Given the description of an element on the screen output the (x, y) to click on. 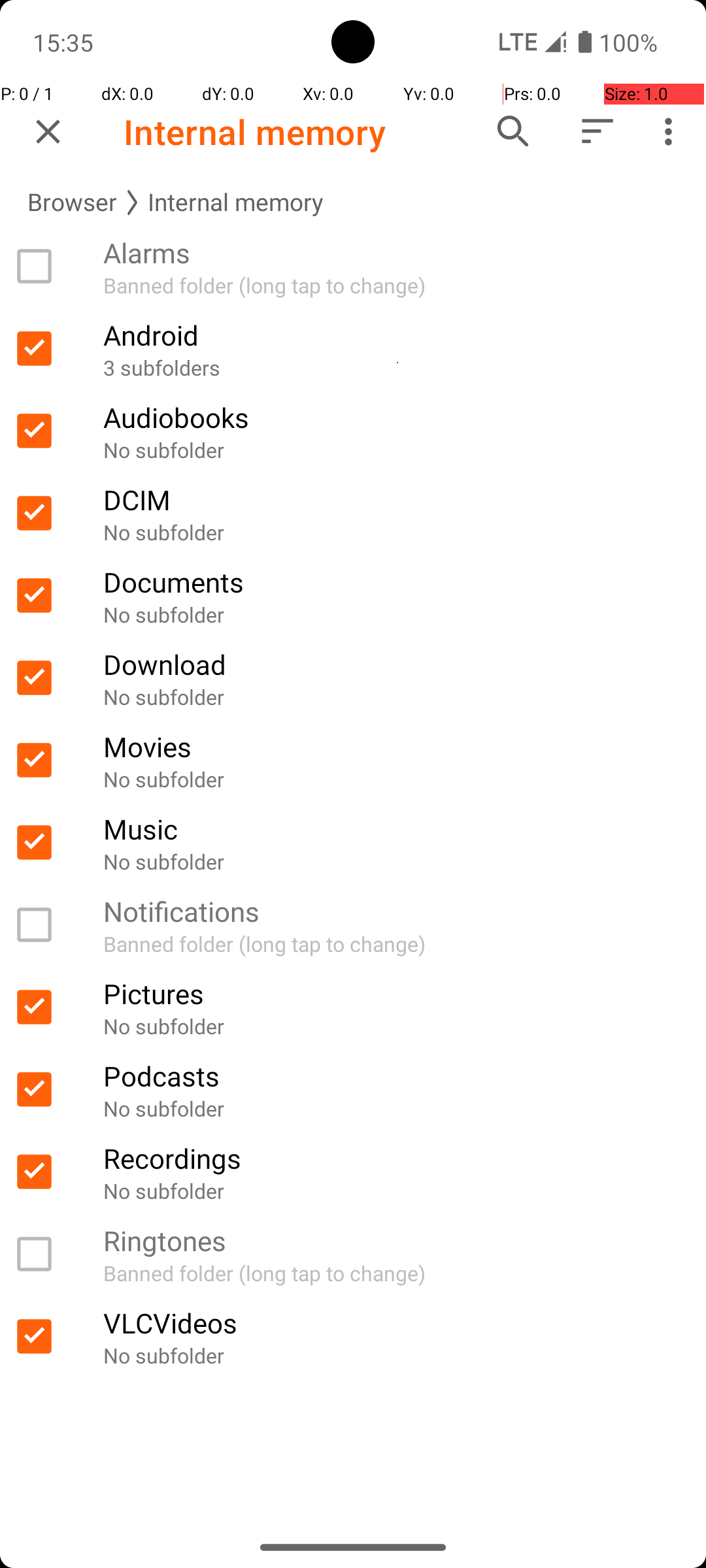
Browser Element type: android.widget.TextView (72, 202)
Folder: Alarms Element type: android.view.ViewGroup (353, 266)
Folder: Android Element type: android.view.ViewGroup (353, 348)
Folder: Audiobooks Element type: android.view.ViewGroup (353, 431)
Folder: DCIM Element type: android.view.ViewGroup (353, 513)
Folder: Documents Element type: android.view.ViewGroup (353, 595)
Folder: Download Element type: android.view.ViewGroup (353, 678)
Folder: Movies Element type: android.view.ViewGroup (353, 760)
Folder: Music Element type: android.view.ViewGroup (353, 842)
Folder: Notifications Element type: android.view.ViewGroup (353, 924)
Folder: Pictures Element type: android.view.ViewGroup (353, 1007)
Folder: Podcasts Element type: android.view.ViewGroup (353, 1089)
Folder: Recordings Element type: android.view.ViewGroup (353, 1171)
Folder: Ringtones Element type: android.view.ViewGroup (353, 1254)
Folder: VLCVideos Element type: android.view.ViewGroup (353, 1336)
Alarms Element type: android.widget.TextView (397, 252)
Banned folder (long tap to change) Element type: android.widget.TextView (397, 285)
Android Element type: android.widget.TextView (397, 334)
3 subfolders Element type: android.widget.TextView (397, 367)
Audiobooks Element type: android.widget.TextView (397, 416)
No subfolder Element type: android.widget.TextView (397, 449)
Pictures Element type: android.widget.TextView (397, 993)
Recordings Element type: android.widget.TextView (397, 1157)
Ringtones Element type: android.widget.TextView (397, 1239)
